Given the description of an element on the screen output the (x, y) to click on. 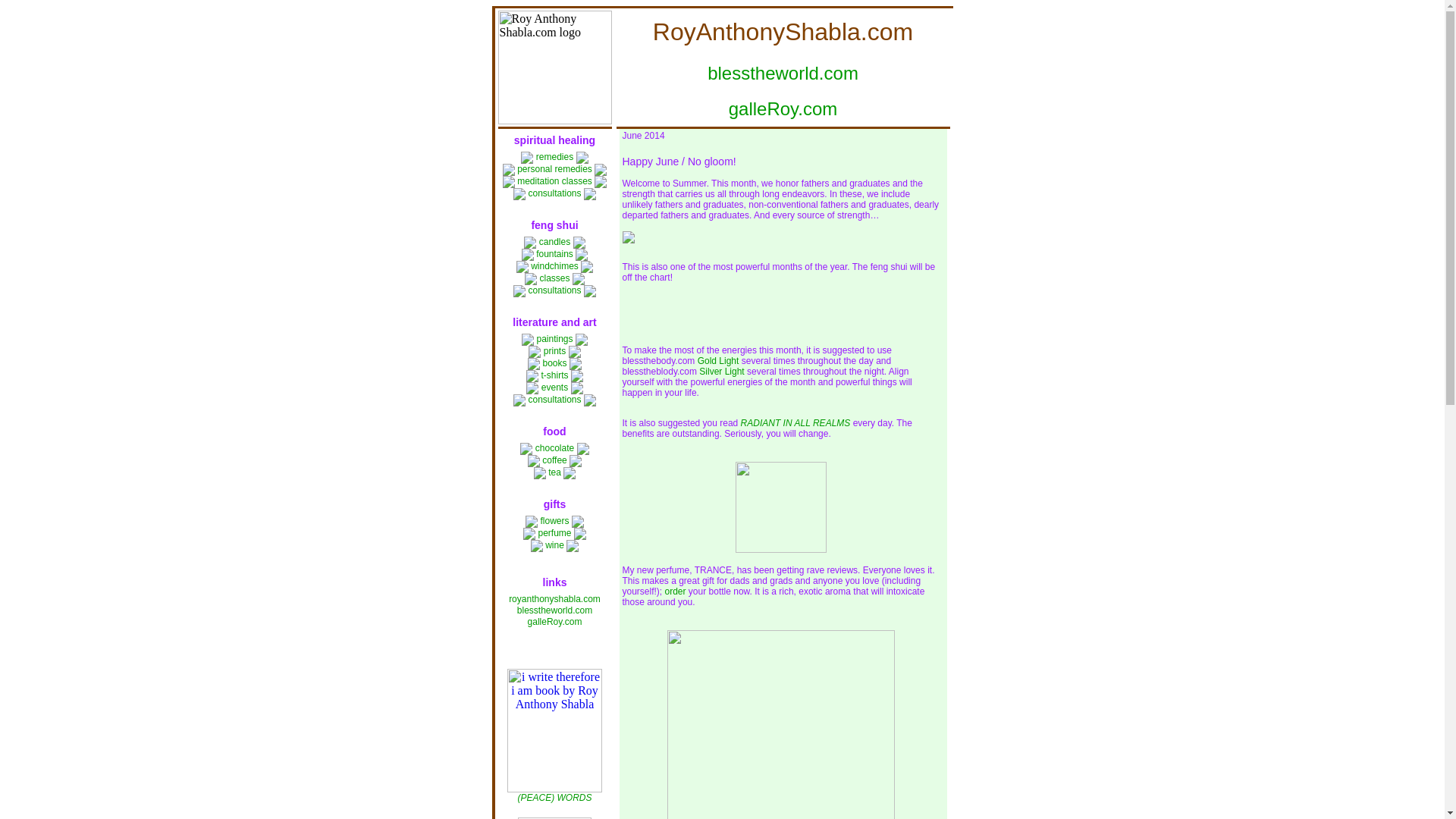
chocolate (553, 448)
consultations (554, 193)
order (675, 591)
windchimes (554, 266)
Silver Light (721, 371)
galleRoy.com (554, 621)
t-shirts (554, 375)
galleRoy.com (783, 108)
classes (554, 277)
Gold Light (718, 360)
